Given the description of an element on the screen output the (x, y) to click on. 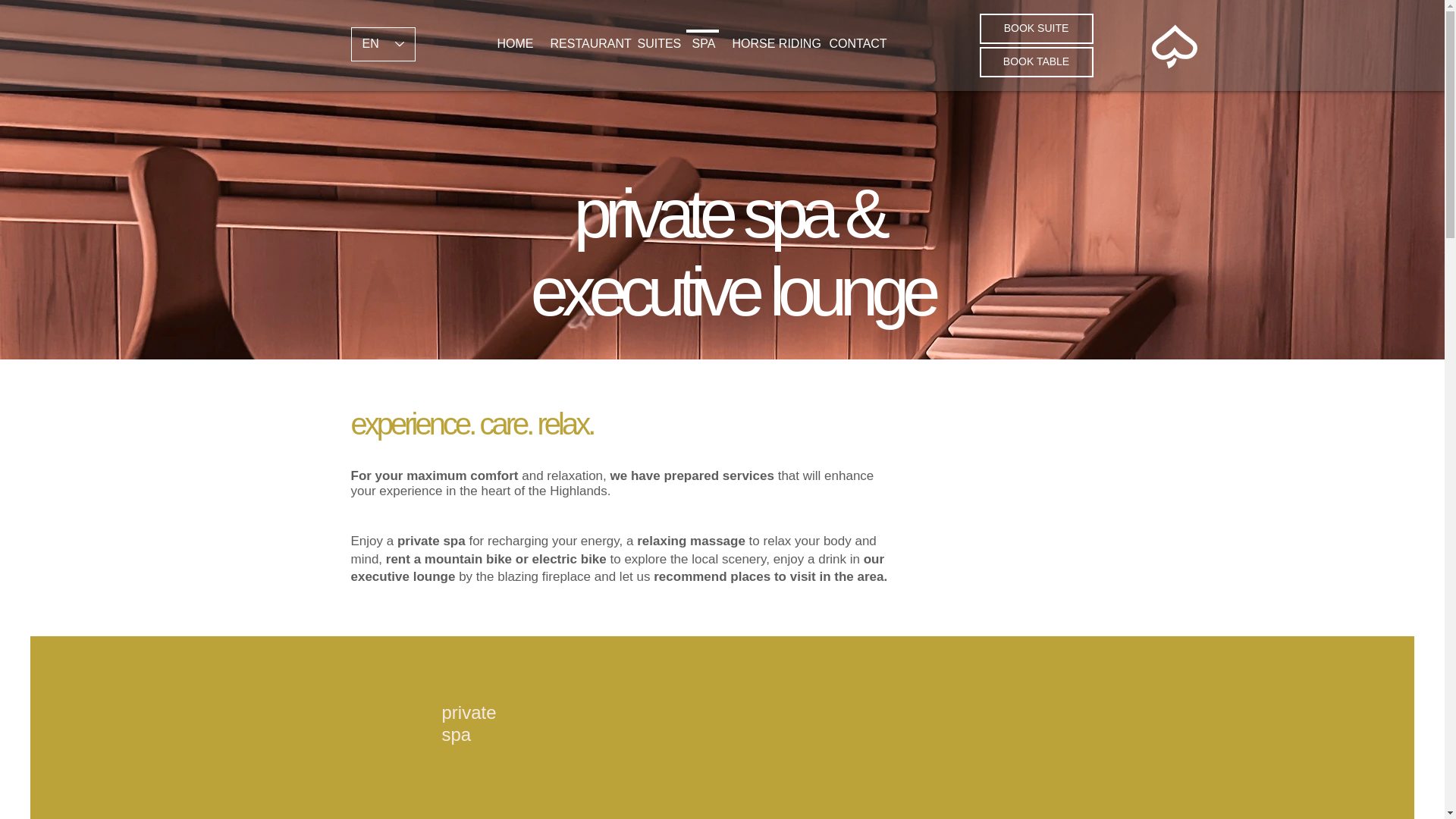
BOOK TABLE (1036, 61)
CONTACT (855, 37)
HOME (513, 37)
HORSE RIDING (770, 37)
SPA (702, 37)
BOOK SUITE (1036, 28)
RESTAURANT (583, 37)
SUITES (654, 37)
